Given the description of an element on the screen output the (x, y) to click on. 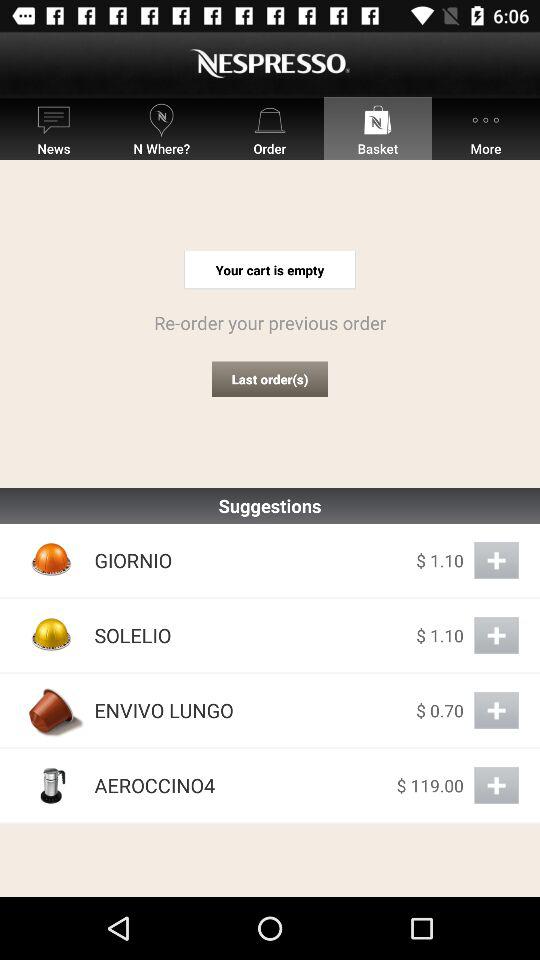
go to add (496, 785)
